Given the description of an element on the screen output the (x, y) to click on. 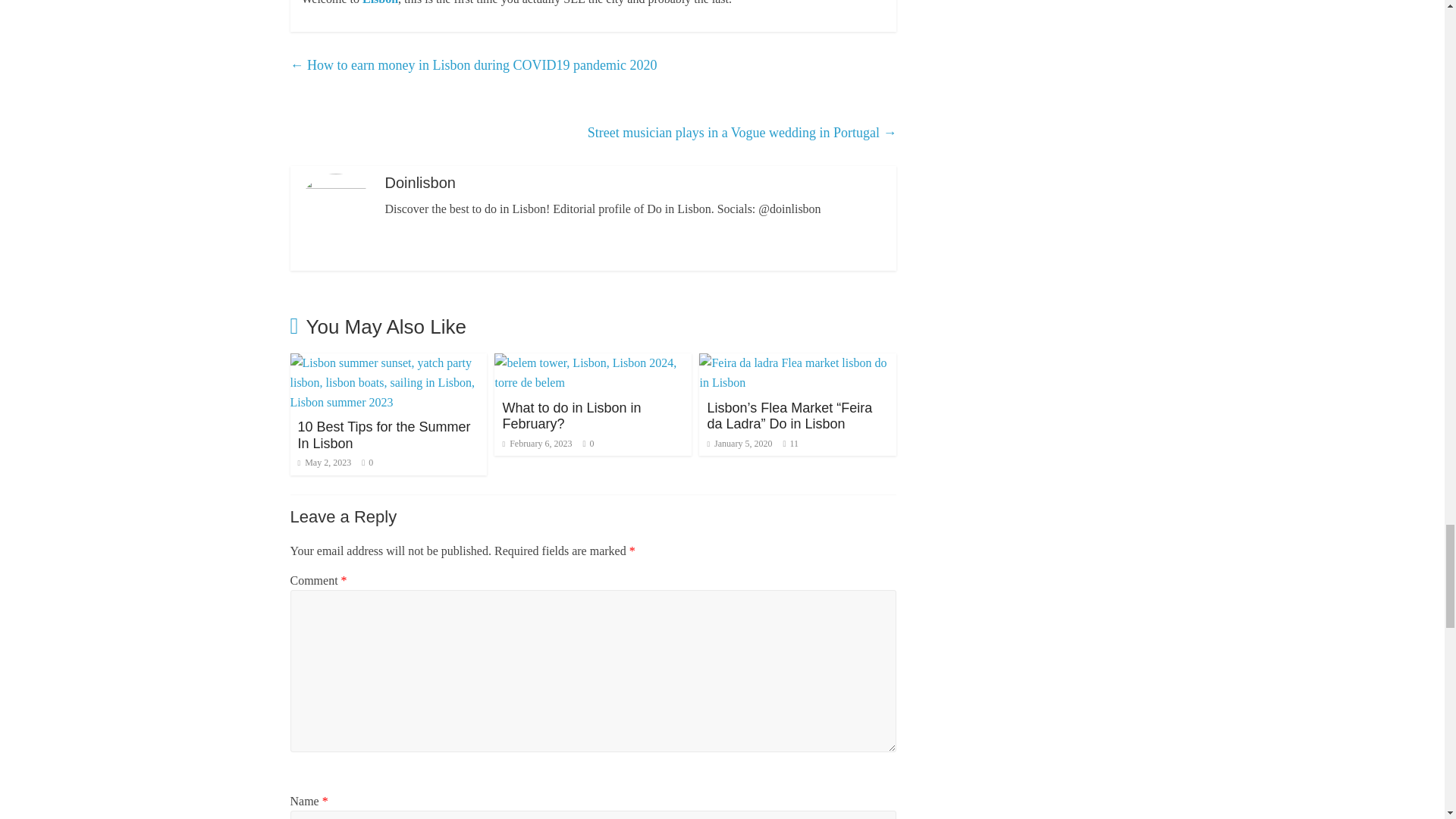
12:59 pm (537, 443)
6:22 pm (323, 462)
10 Best Tips for the Summer In Lisbon (383, 435)
What to do in Lisbon in February? (571, 416)
What to do in Lisbon in February? (593, 362)
10 Best Tips for the Summer In Lisbon (387, 362)
